Given the description of an element on the screen output the (x, y) to click on. 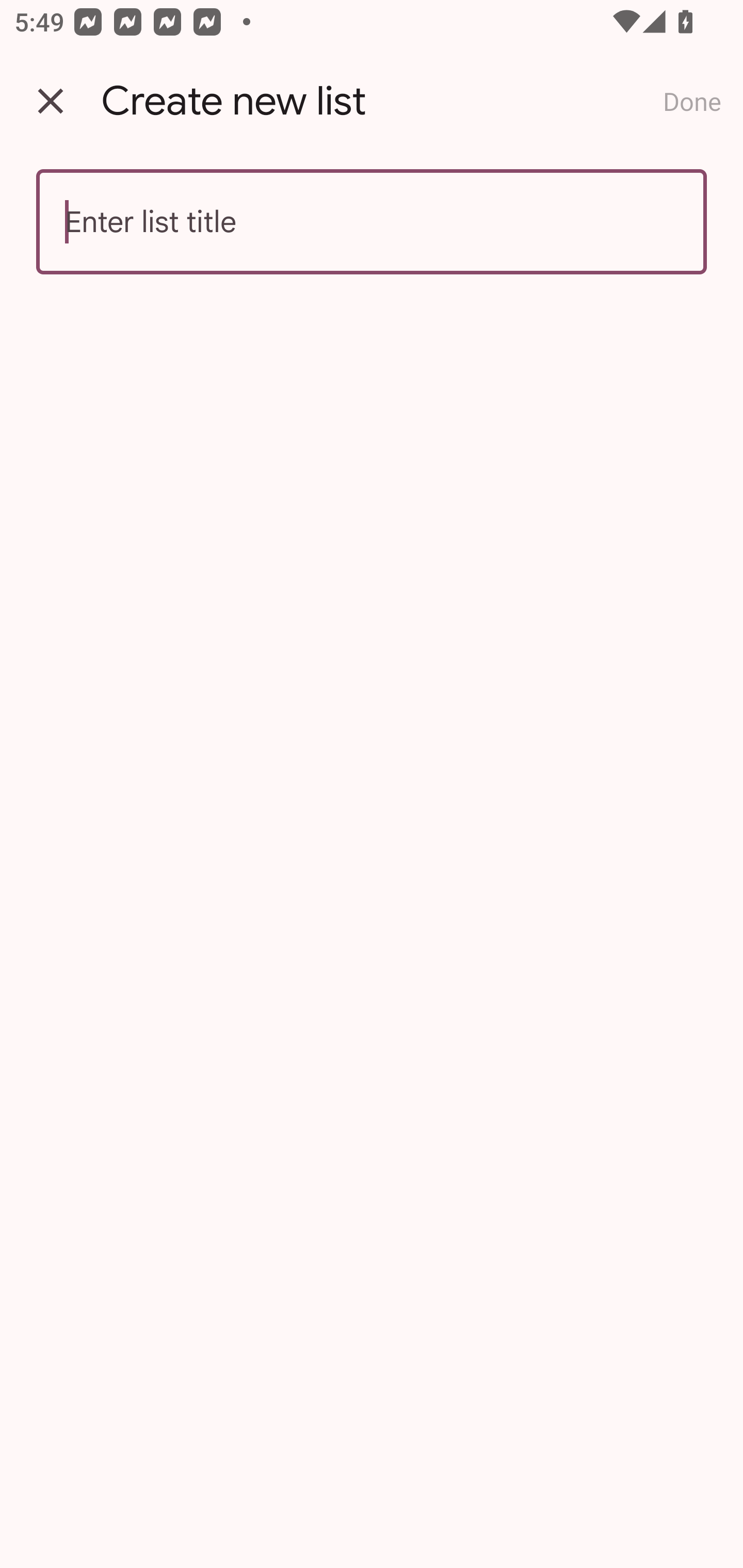
Back (50, 101)
Done (692, 101)
Enter list title (371, 221)
